Given the description of an element on the screen output the (x, y) to click on. 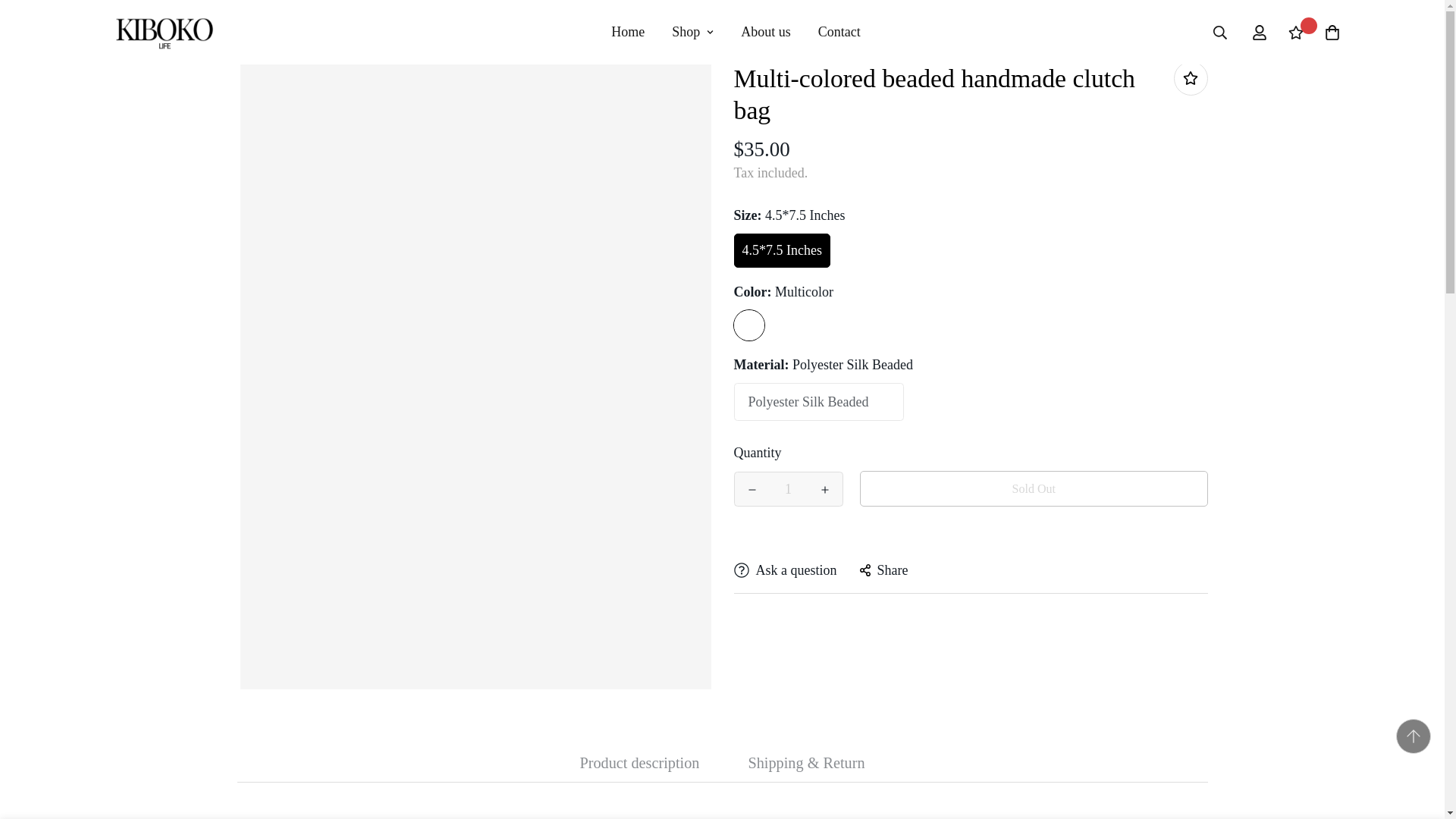
Back to the home page (542, 23)
Kiboko Life (735, 32)
Home (161, 32)
Contact (627, 32)
About us (840, 32)
1 (765, 32)
Shop (787, 489)
